Given the description of an element on the screen output the (x, y) to click on. 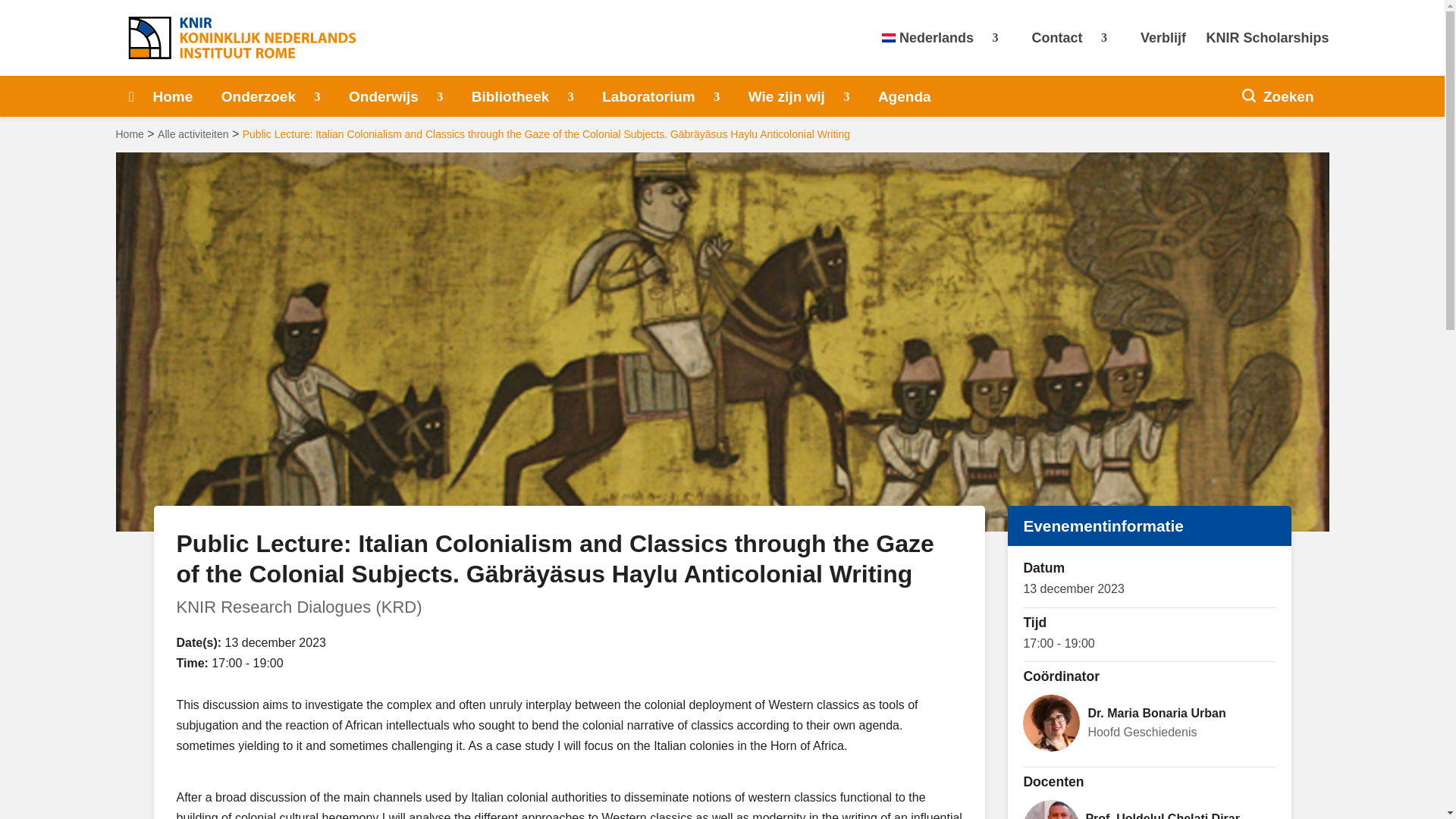
Contact (1076, 46)
Ga naar Alle activiteiten. (192, 133)
Nederlands (946, 46)
KNIR Scholarships (1266, 46)
Nederlands (946, 46)
Ga naar Koninklijk Nederlands Instituut Rome. (128, 133)
